Given the description of an element on the screen output the (x, y) to click on. 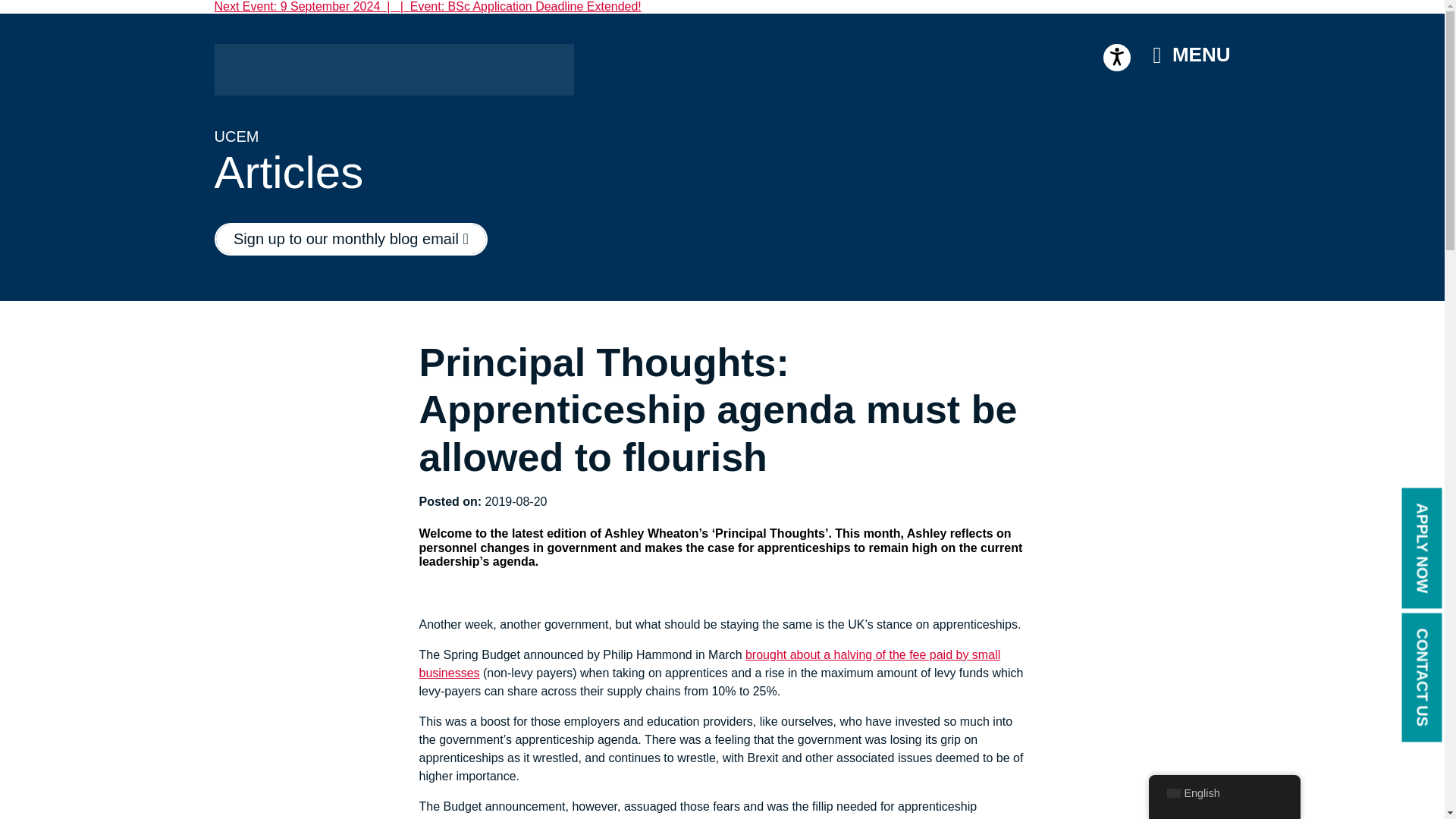
Accessibility (1117, 57)
  MENU (1191, 55)
English (1172, 792)
